Given the description of an element on the screen output the (x, y) to click on. 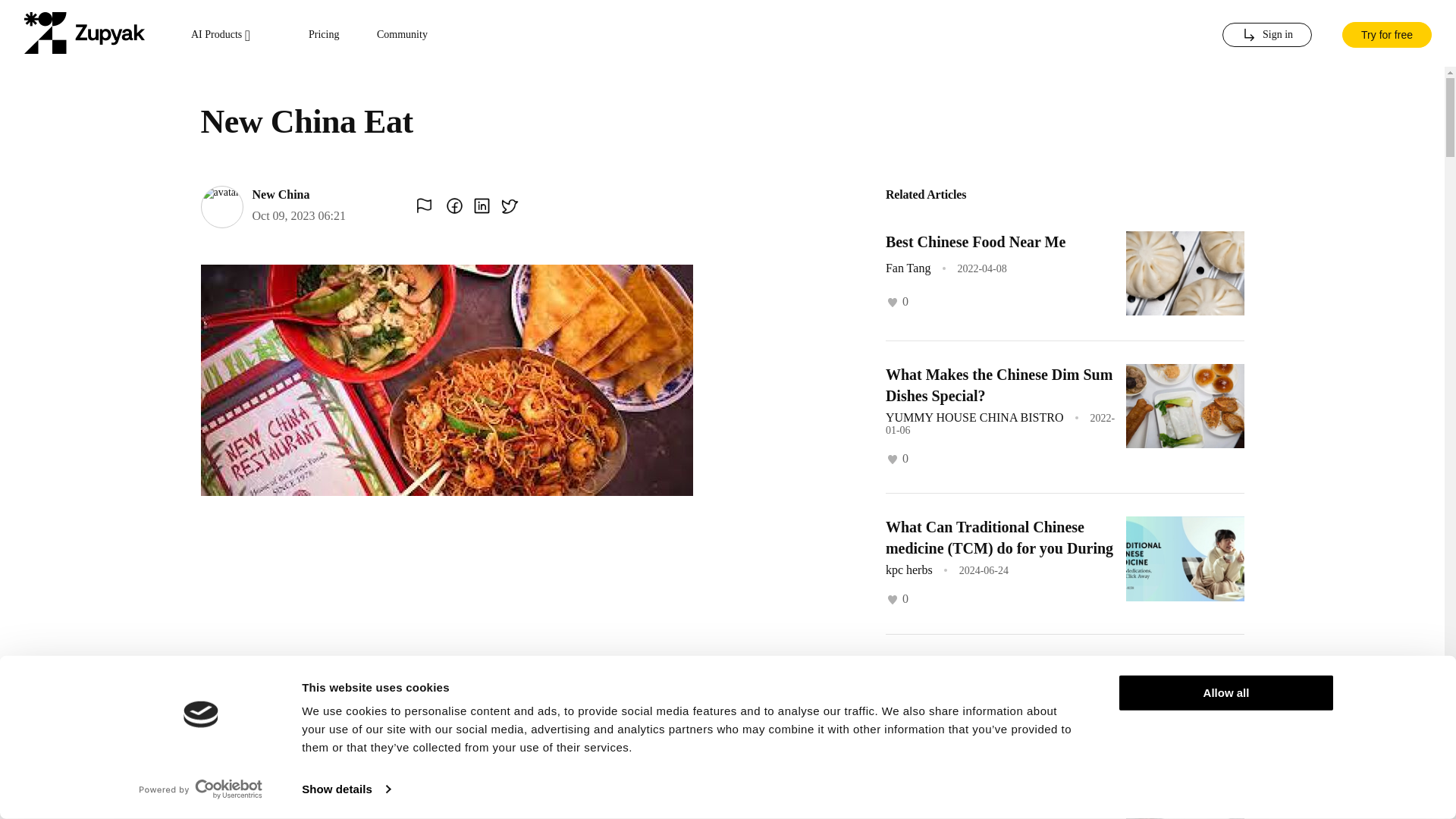
Wok Hei  (913, 808)
What Makes the Chinese Dim Sum Dishes Special? (998, 385)
Tips to Eat Chinese Food Like a True Chinese (989, 678)
Best Chinese Food Near Me (975, 241)
Show details (345, 789)
